Given the description of an element on the screen output the (x, y) to click on. 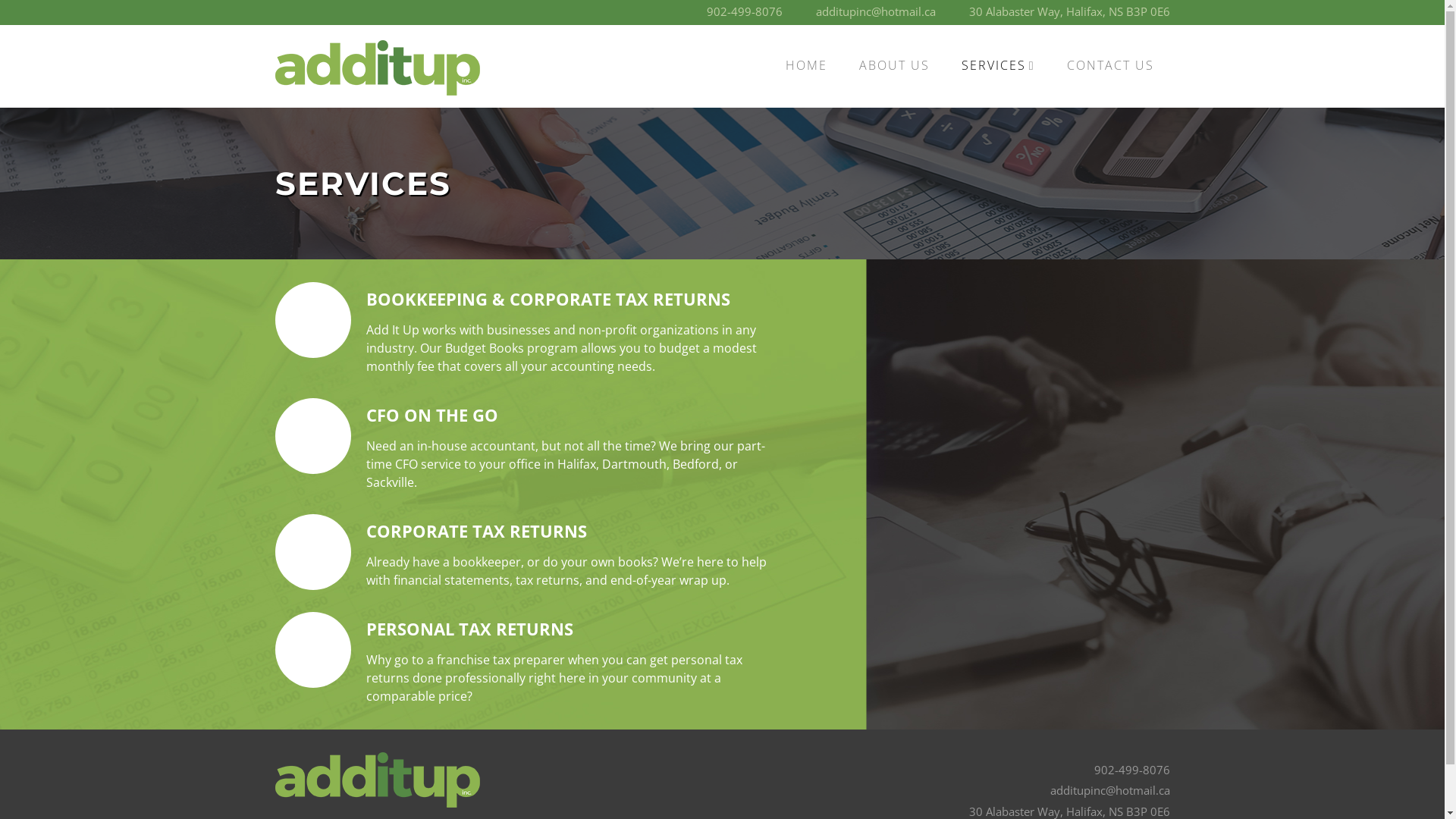
additupinc@hotmail.ca Element type: text (875, 10)
CFO ON THE GO Element type: text (431, 414)
PERSONAL TAX RETURNS Element type: text (468, 628)
CORPORATE TAX RETURNS Element type: text (475, 530)
additupinc@hotmail.ca Element type: text (1109, 789)
902-499-8076 Element type: text (744, 10)
902-499-8076 Element type: text (1131, 769)
HOME Element type: text (806, 65)
BOOKKEEPING & CORPORATE TAX RETURNS Element type: text (547, 298)
ABOUT US Element type: text (894, 65)
SERVICES Element type: text (998, 65)
CONTACT US Element type: text (1110, 65)
